Given the description of an element on the screen output the (x, y) to click on. 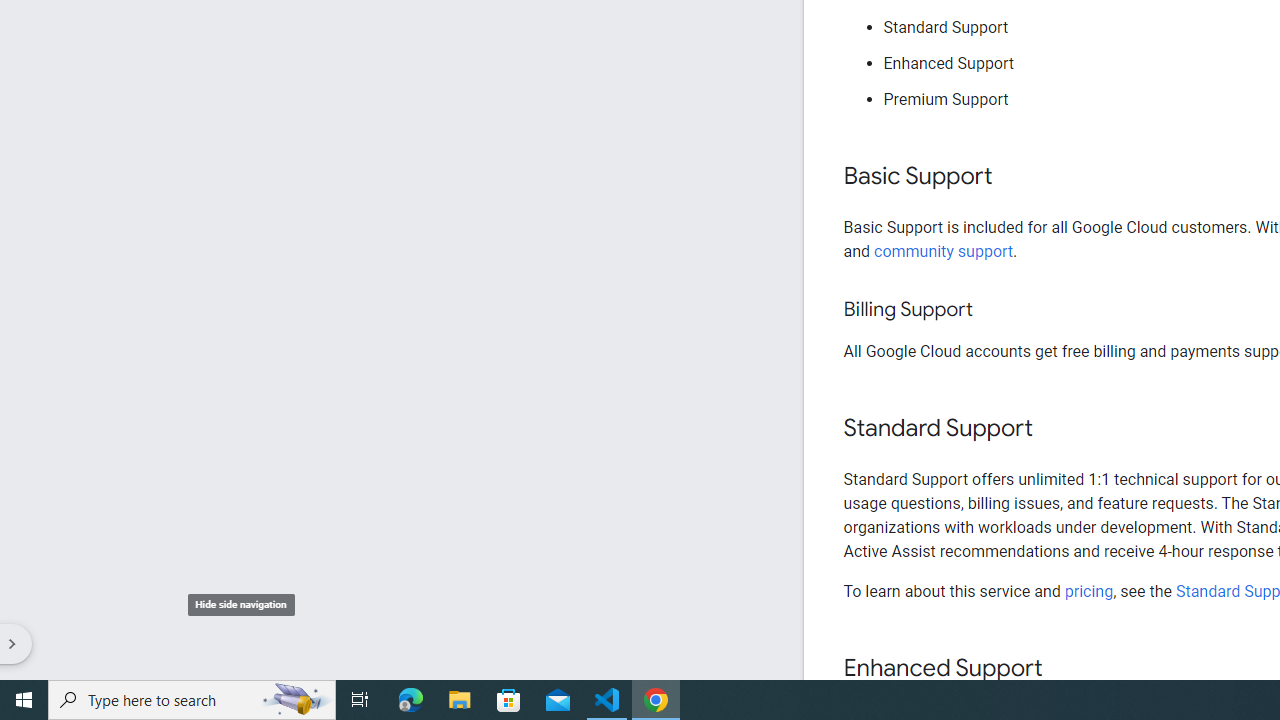
Copy link to this section: Standard Support (1052, 429)
Copy link to this section: Basic Support (1012, 177)
Copy link to this section: Enhanced Support (1061, 668)
pricing (1088, 591)
Copy link to this section: Billing Support (991, 310)
community support (943, 250)
